Given the description of an element on the screen output the (x, y) to click on. 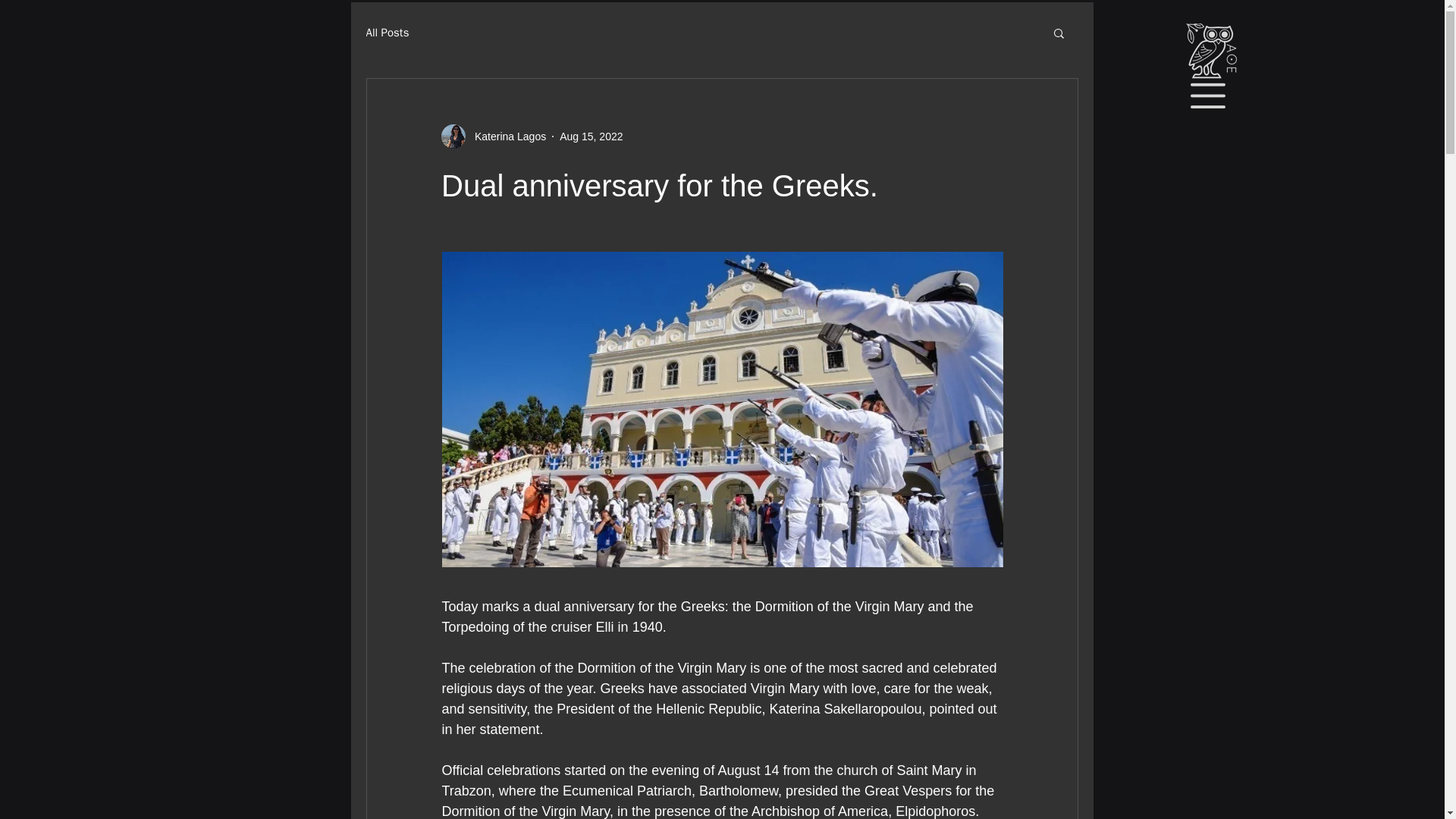
Katerina Lagos (493, 136)
All Posts (387, 32)
Katerina Lagos (505, 136)
Aug 15, 2022 (591, 136)
